Given the description of an element on the screen output the (x, y) to click on. 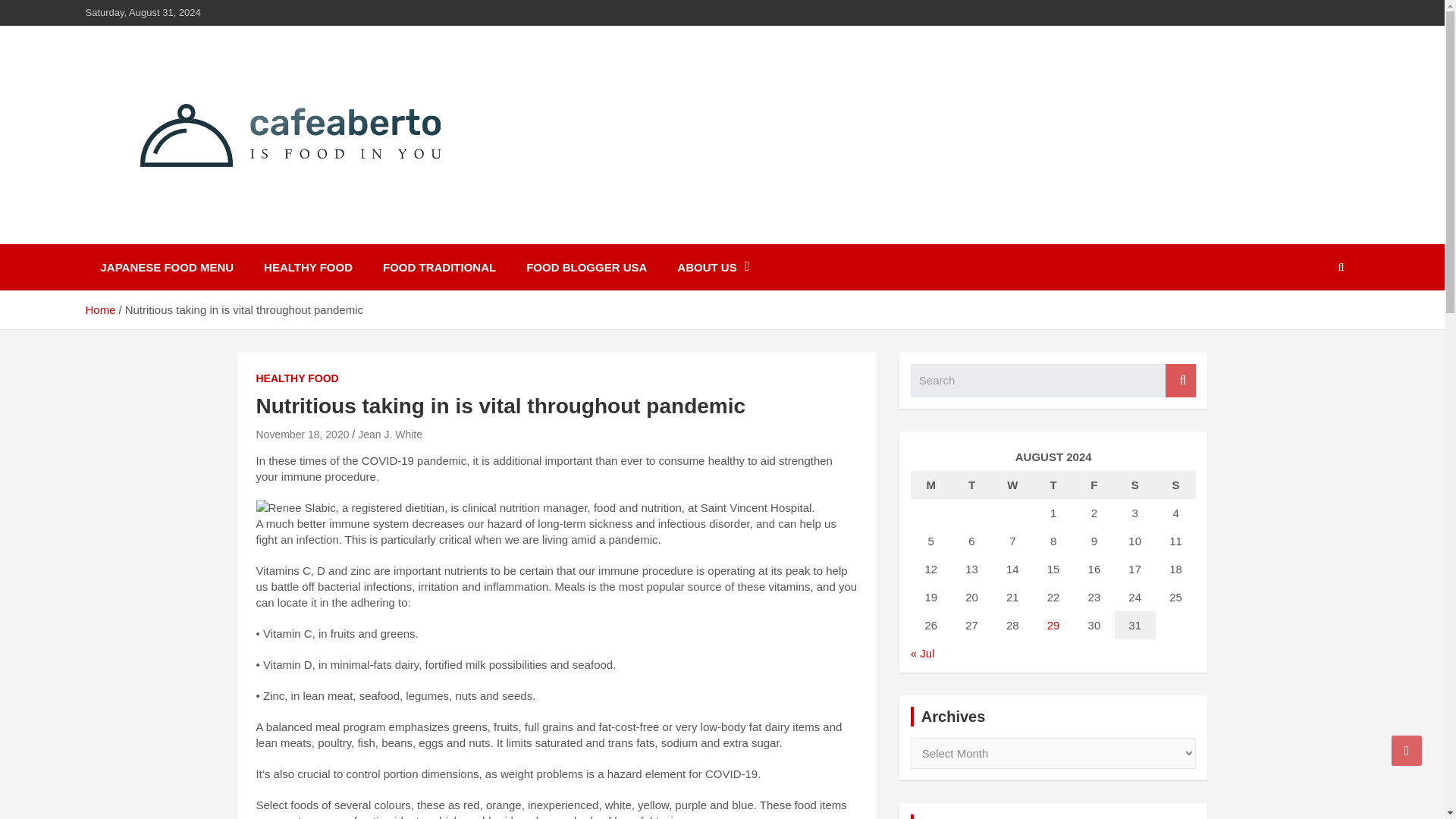
Friday (1094, 484)
Saturday (1135, 484)
ABOUT US (713, 267)
FOOD TRADITIONAL (439, 267)
Cafeaberto (163, 233)
29 (1052, 625)
Tuesday (972, 484)
FOOD BLOGGER USA (586, 267)
Home (99, 309)
Monday (931, 484)
